Given the description of an element on the screen output the (x, y) to click on. 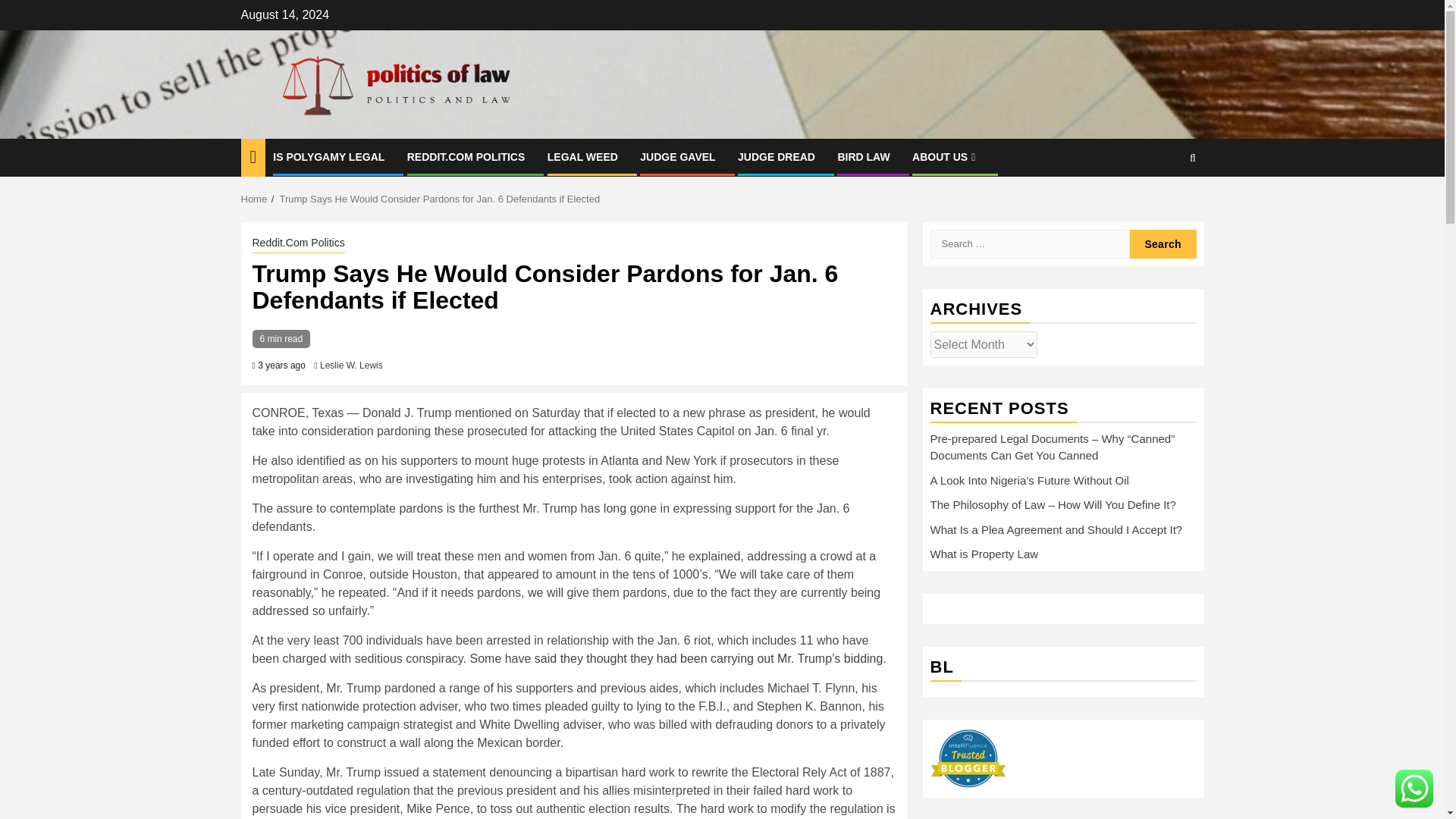
Search (1163, 203)
Reddit.Com Politics (297, 244)
JUDGE GAVEL (677, 156)
LEGAL WEED (582, 156)
Home (254, 198)
Search (1162, 244)
REDDIT.COM POLITICS (466, 156)
IS POLYGAMY LEGAL (328, 156)
JUDGE DREAD (776, 156)
BIRD LAW (863, 156)
